Given the description of an element on the screen output the (x, y) to click on. 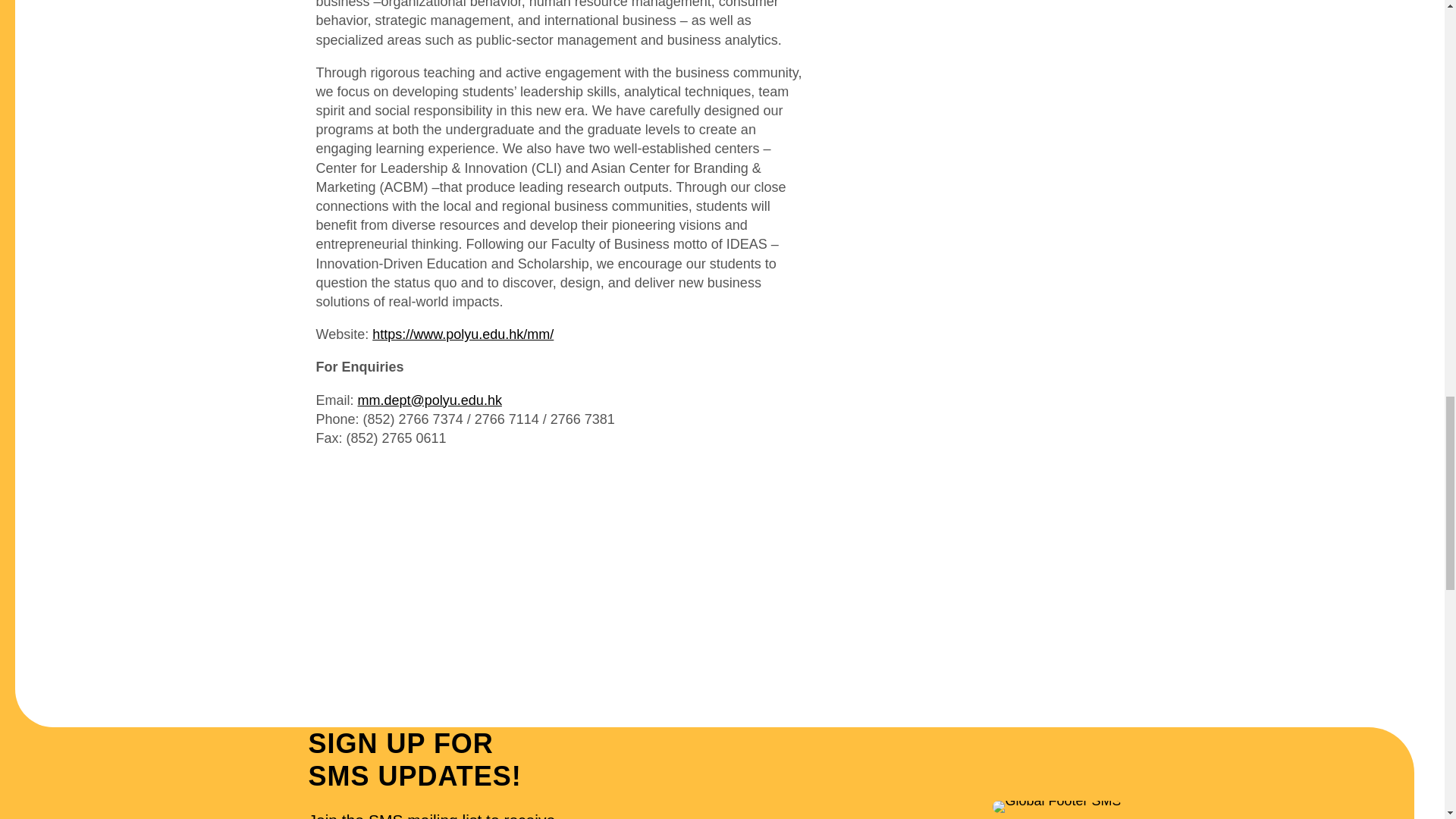
Global Footer SMS (1056, 806)
